Given the description of an element on the screen output the (x, y) to click on. 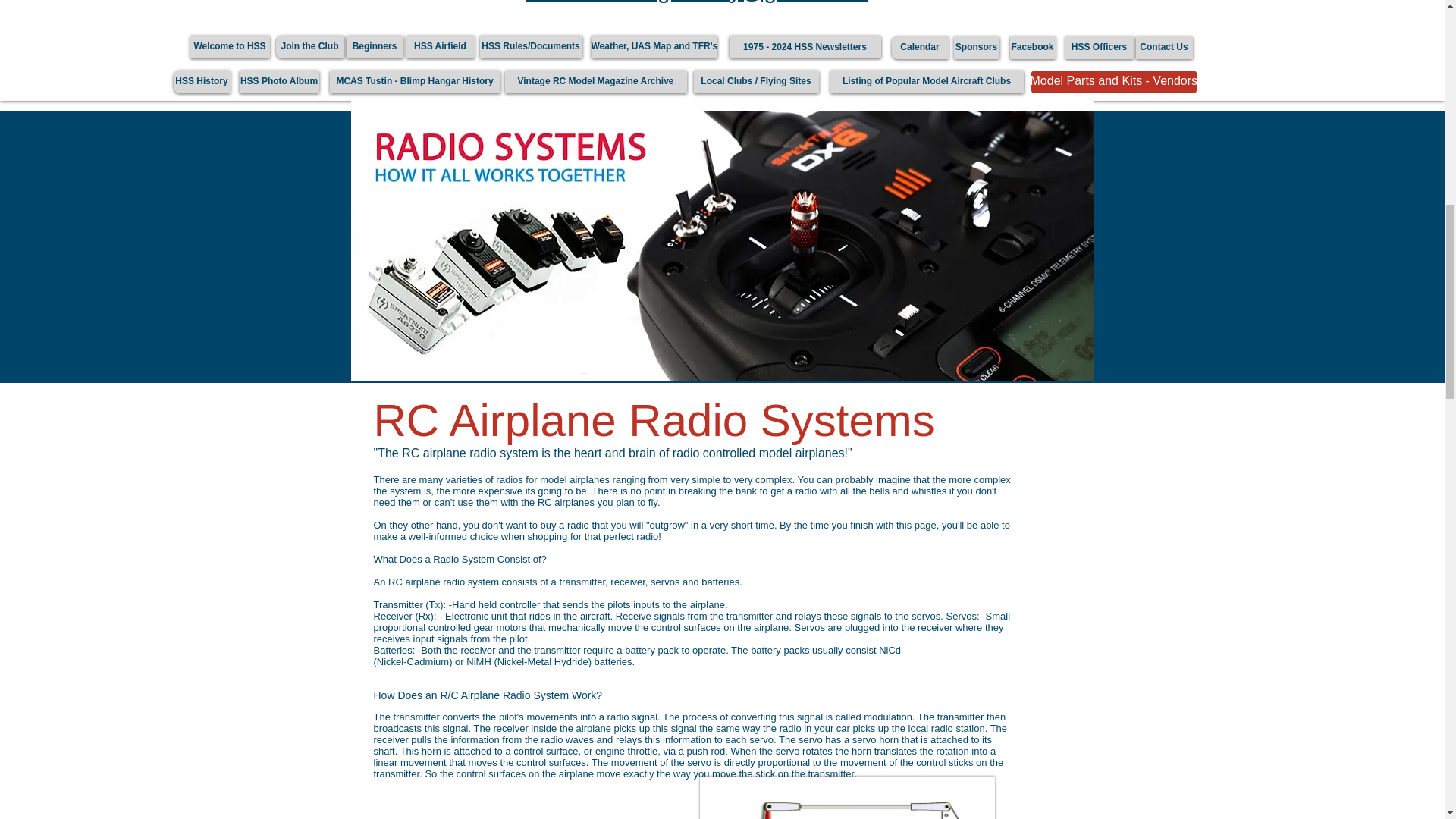
Weather, UAS Map and TFR's (654, 47)
Join the Club (309, 47)
HSS History (201, 81)
MCAS Tustin - Blimp Hangar History (414, 81)
Listing of Popular Model Aircraft Clubs (926, 81)
HSS Airfield (440, 47)
Calendar (920, 47)
Facebook (1032, 47)
Beginners (374, 47)
Model Parts and Kits - Vendors (1112, 81)
